Given the description of an element on the screen output the (x, y) to click on. 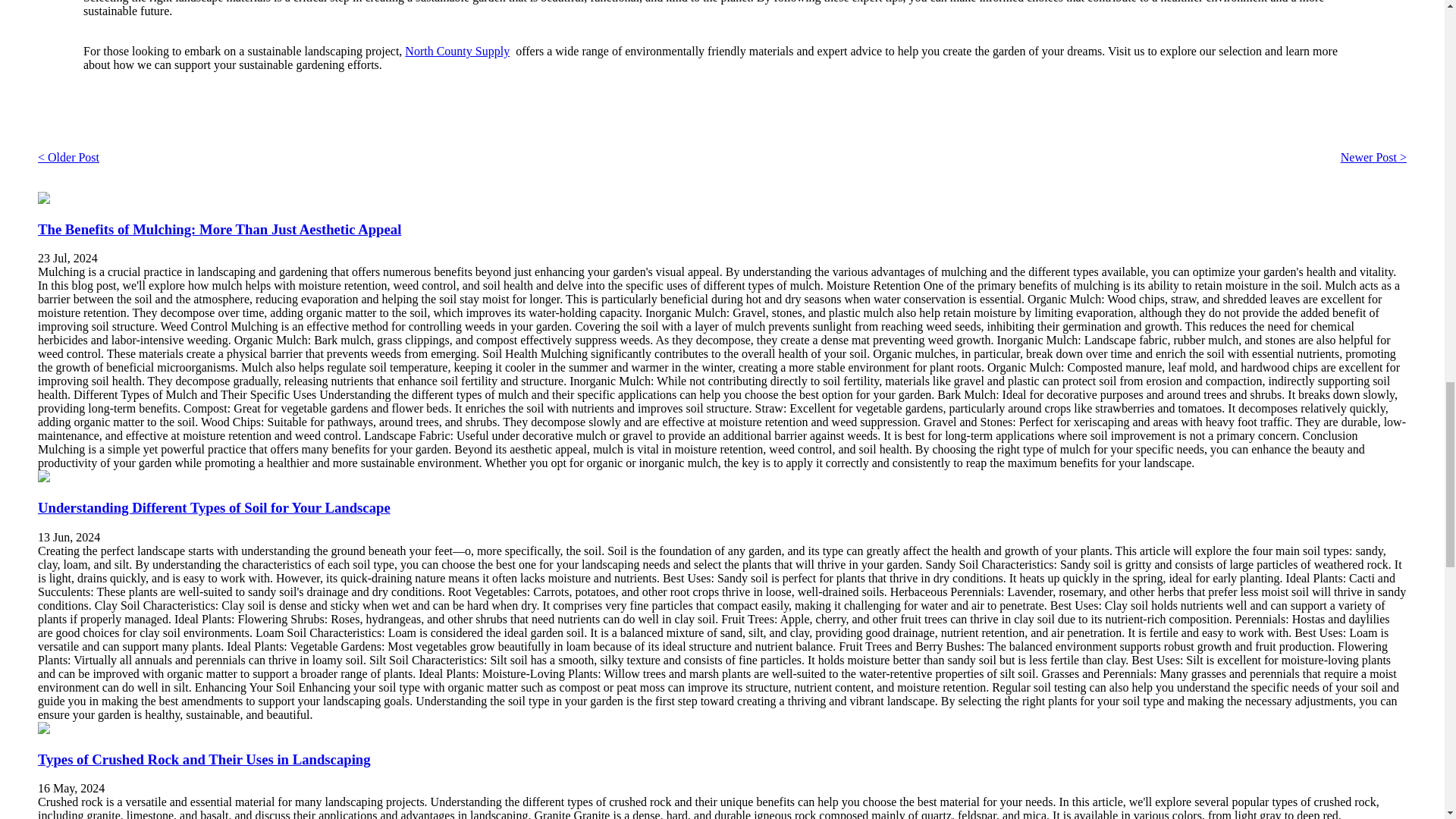
Understanding Different Types of Soil for Your Landscape (213, 507)
North County Supply (456, 51)
The Benefits of Mulching: More Than Just Aesthetic Appeal (219, 229)
